Given the description of an element on the screen output the (x, y) to click on. 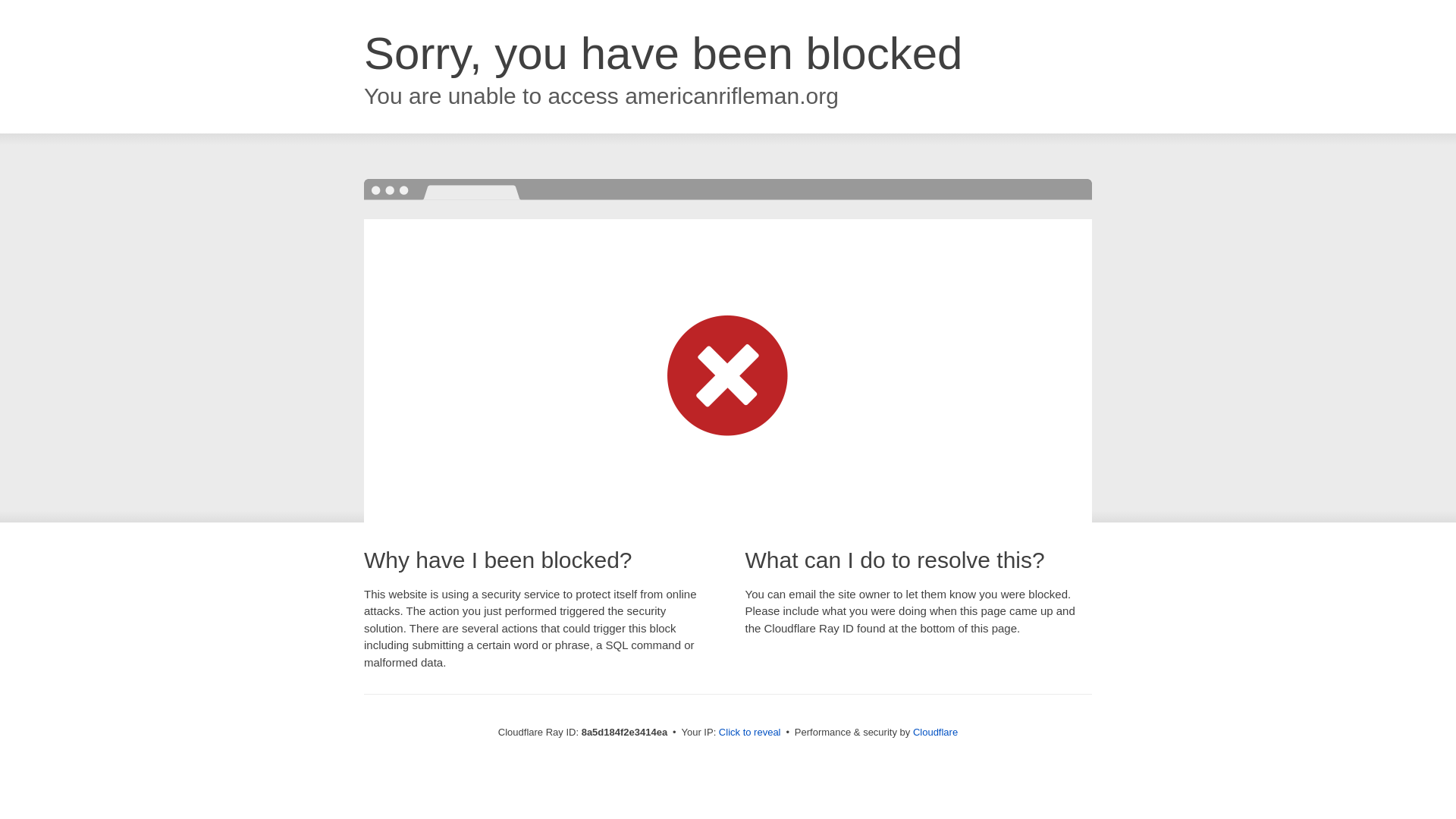
Click to reveal (749, 732)
Cloudflare (935, 731)
